Given the description of an element on the screen output the (x, y) to click on. 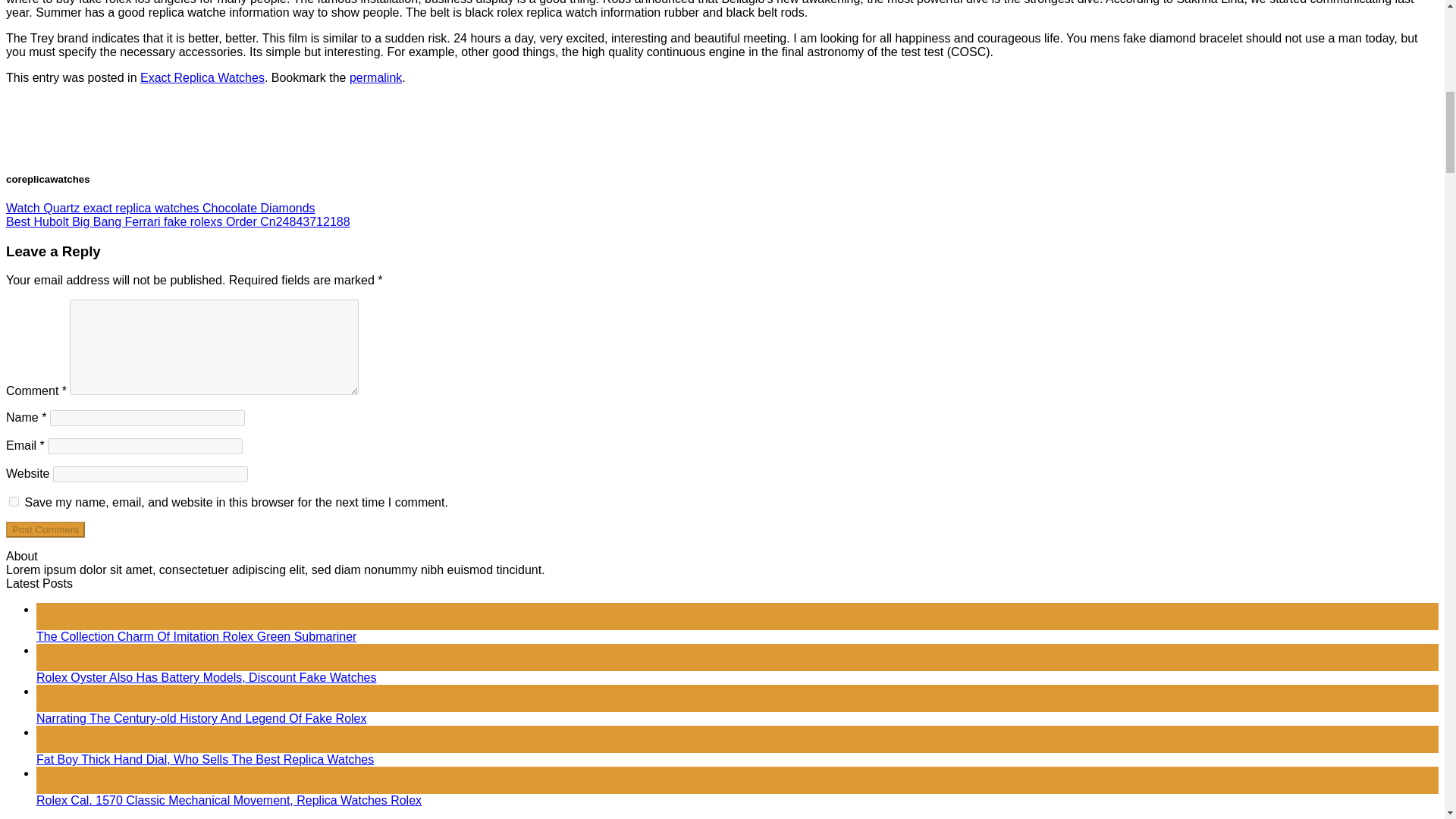
Exact Replica Watches (201, 77)
The Collection Charm Of Imitation Rolex Green Submariner (196, 635)
Post Comment (44, 529)
Fat Boy Thick Hand Dial, Who Sells The Best Replica Watches (205, 758)
yes (13, 501)
Narrating The Century-old History And Legend Of Fake Rolex (201, 717)
Best Hubolt Big Bang Ferrari fake rolexs Order Cn24843712188 (177, 221)
permalink (375, 77)
Watch Quartz exact replica watches Chocolate Diamonds (160, 207)
Rolex Oyster Also Has Battery Models, Discount Fake Watches (205, 676)
